Given the description of an element on the screen output the (x, y) to click on. 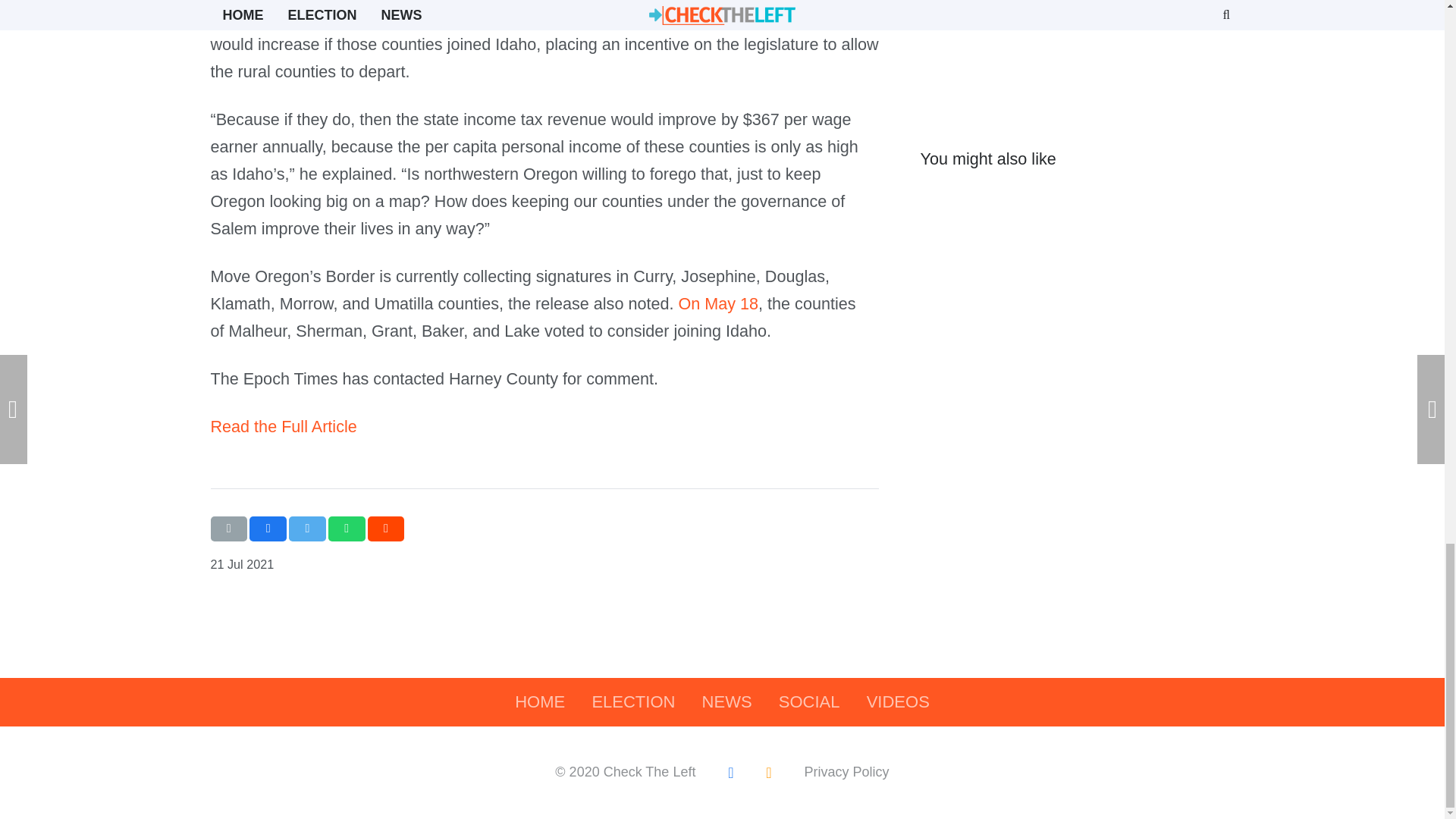
Privacy Policy (847, 771)
HOME (540, 702)
NEWS (726, 702)
Share this (386, 528)
SOCIAL (809, 702)
On May 18 (718, 303)
Read the Full Article (283, 425)
VIDEOS (897, 702)
Share this (347, 528)
ELECTION (633, 702)
